Given the description of an element on the screen output the (x, y) to click on. 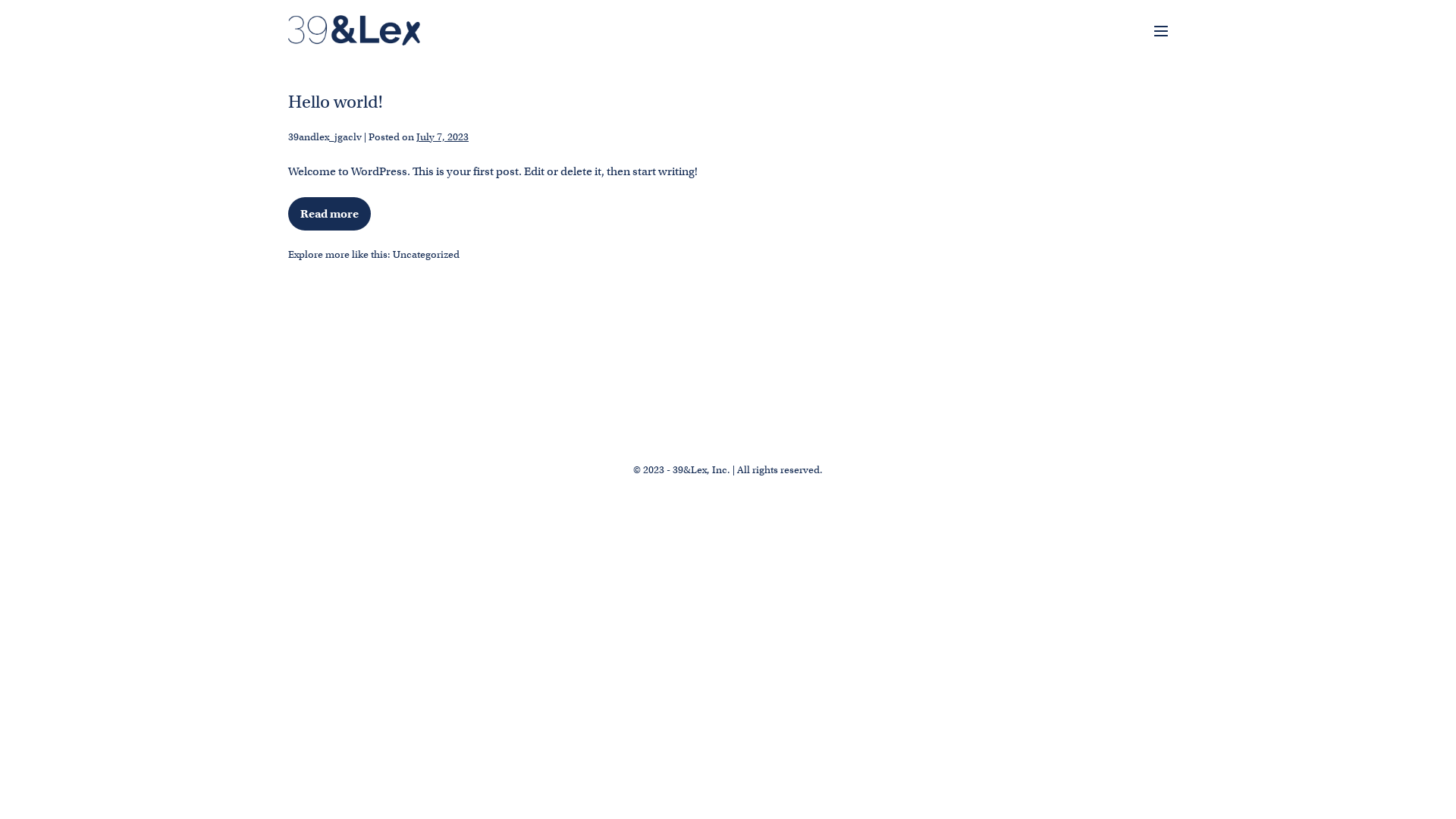
39&Lex Element type: hover (354, 30)
39andlex_jgaclv Element type: text (324, 136)
Menu Toggle Element type: text (1160, 30)
Hello world! Element type: text (335, 101)
Uncategorized Element type: text (425, 253)
Read more
Hello world! Element type: text (329, 213)
